Given the description of an element on the screen output the (x, y) to click on. 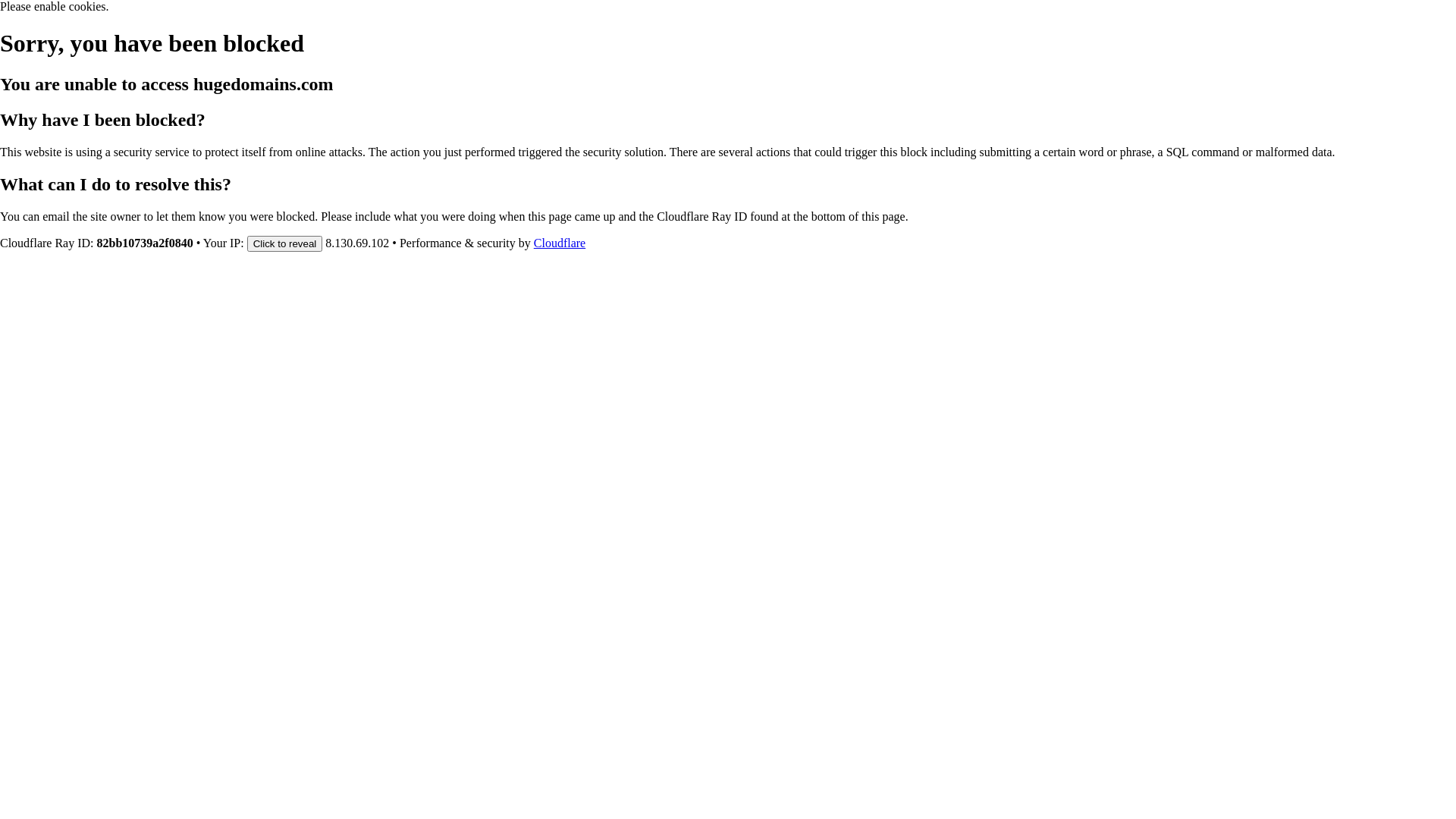
Cloudflare Element type: text (559, 242)
Click to reveal Element type: text (285, 243)
